Given the description of an element on the screen output the (x, y) to click on. 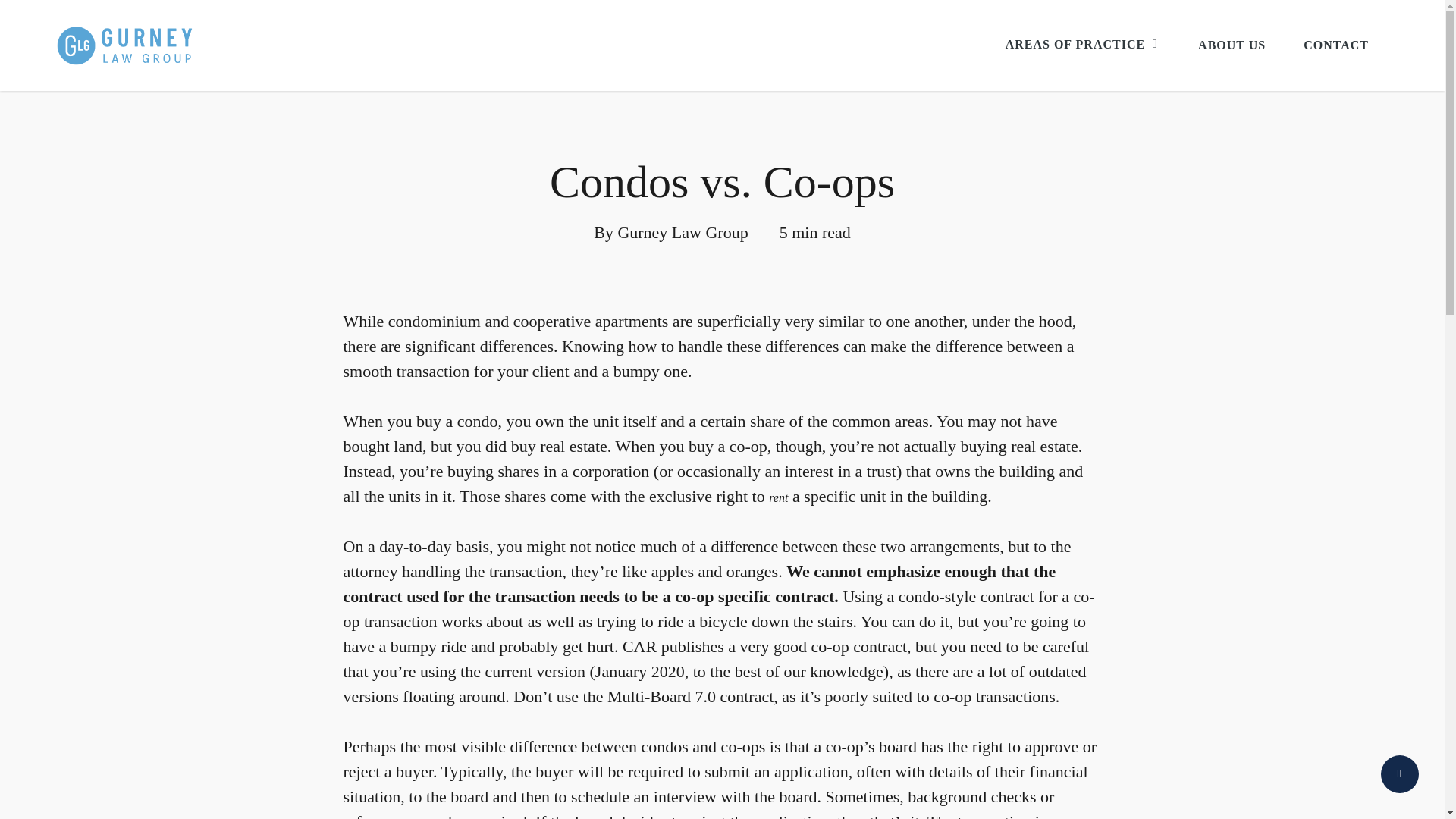
Posts by Gurney Law Group (682, 231)
ABOUT US (1231, 45)
Gurney Law Group (682, 231)
AREAS OF PRACTICE (1083, 45)
CONTACT (1335, 45)
